Given the description of an element on the screen output the (x, y) to click on. 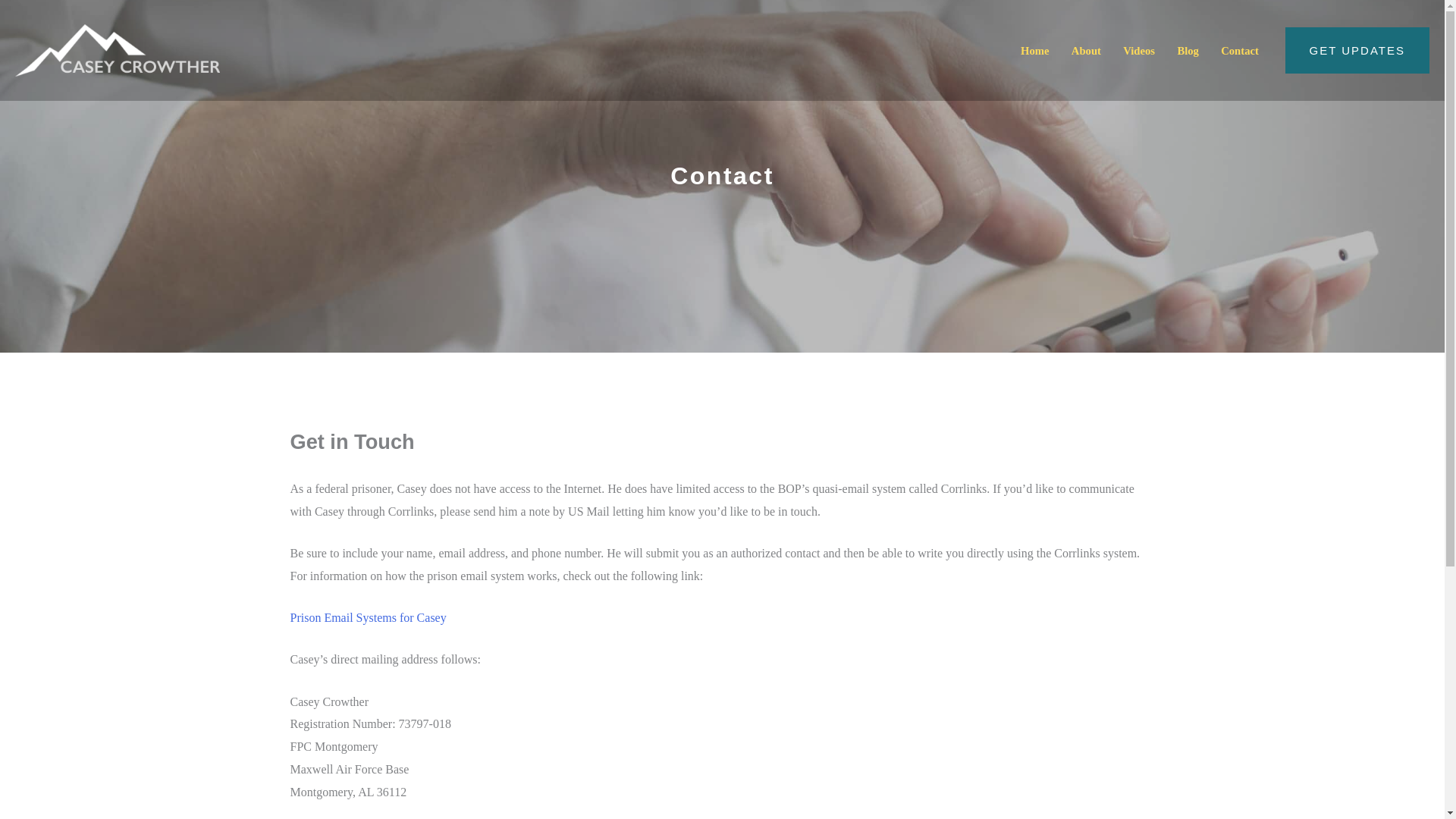
About (1085, 50)
Contact (1239, 50)
GET UPDATES (1357, 50)
Home (1034, 50)
Videos (1139, 50)
Prison Email Systems for Casey (367, 617)
